Given the description of an element on the screen output the (x, y) to click on. 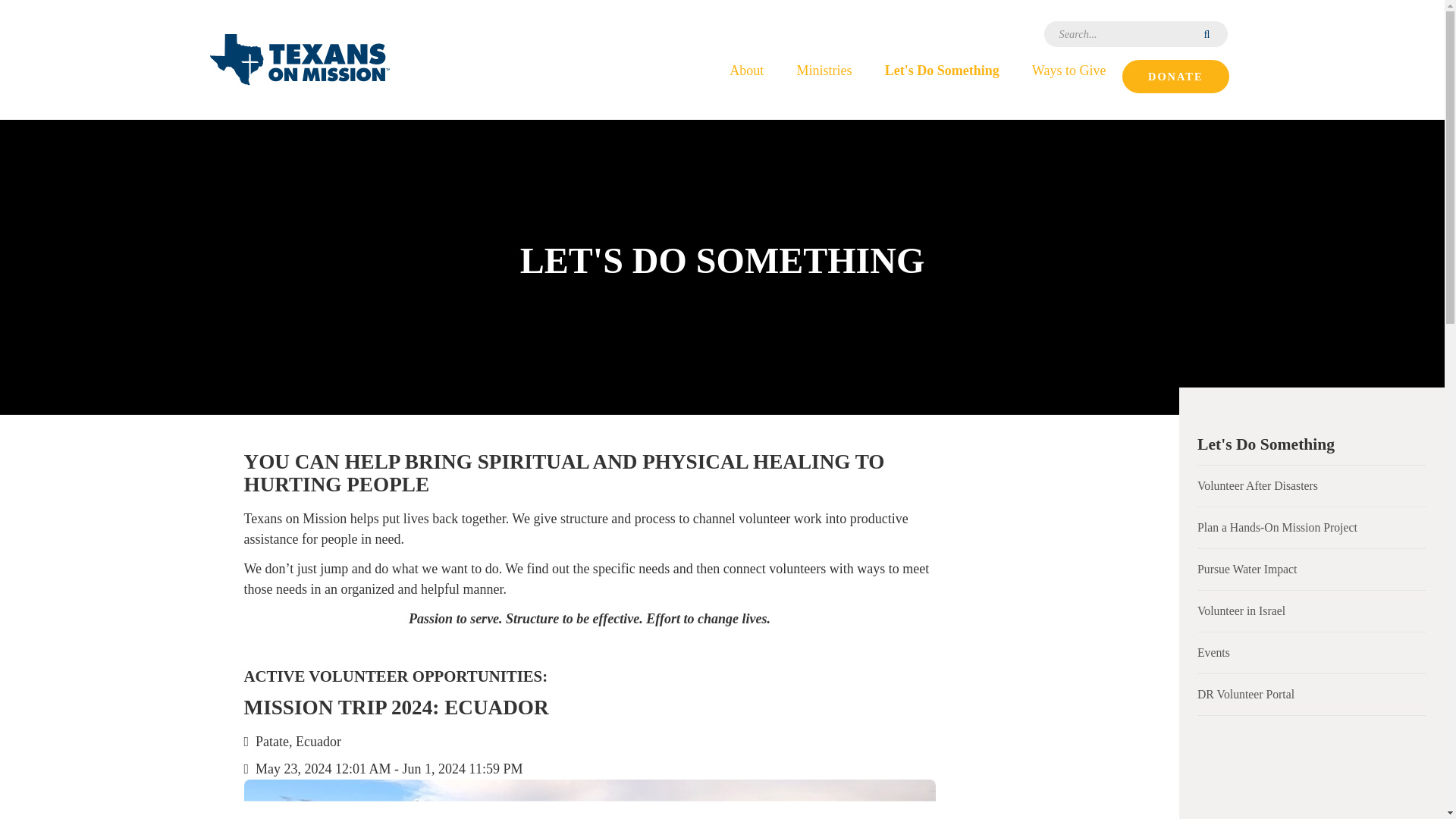
Let's Do Something (1311, 444)
DR Volunteer Portal (1311, 694)
Pursue Water Impact (1311, 568)
DONATE (1175, 76)
Volunteer After Disasters (1311, 486)
Ways to Give (1068, 68)
Let's Do Something (940, 68)
SEARCH (1208, 33)
Plan a Hands-On Mission Project (1311, 526)
Events (1311, 652)
